Given the description of an element on the screen output the (x, y) to click on. 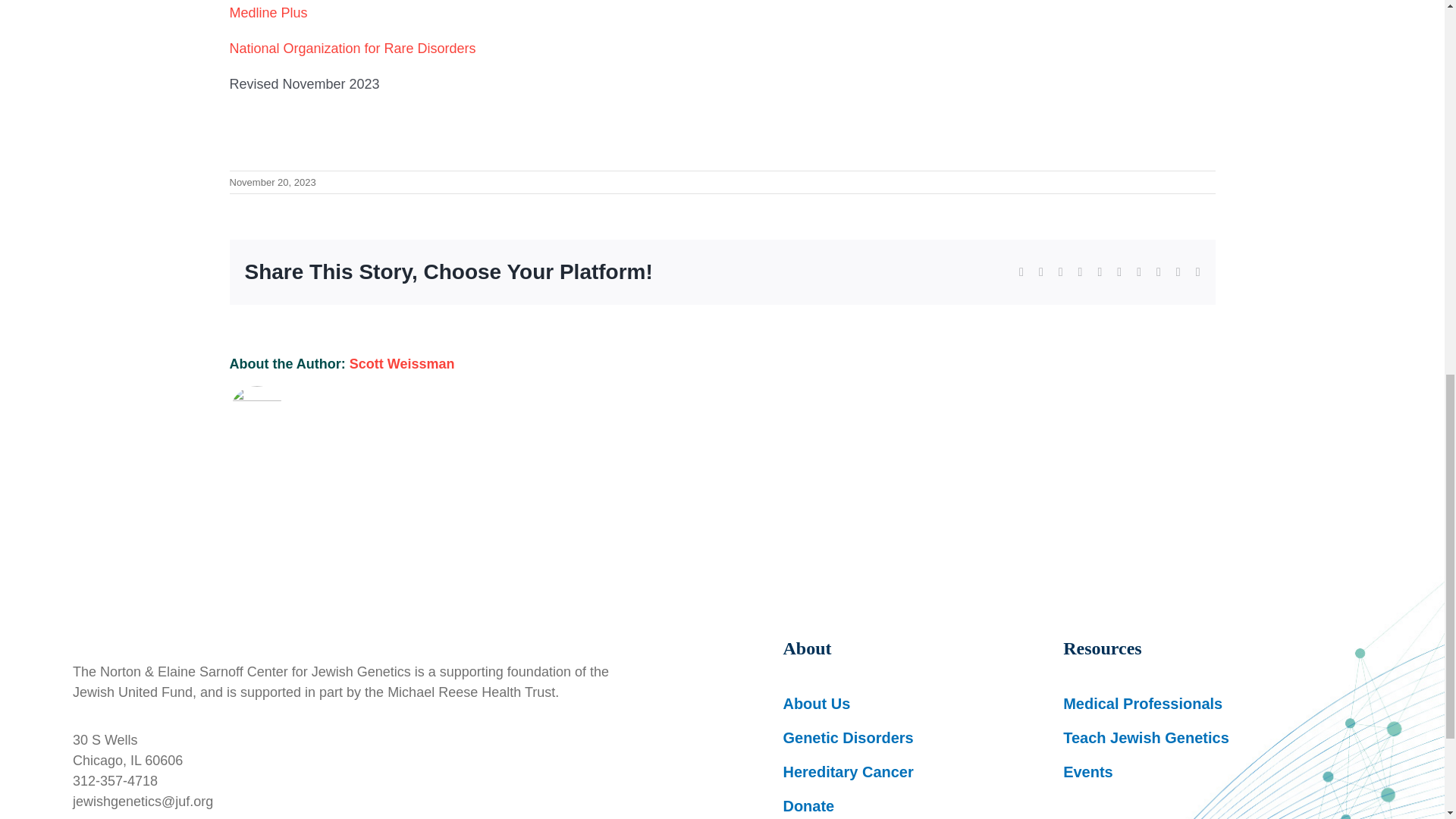
jewishunitedfund-logo (299, 615)
Medline Plus (267, 12)
Posts by Scott Weissman (401, 363)
